Given the description of an element on the screen output the (x, y) to click on. 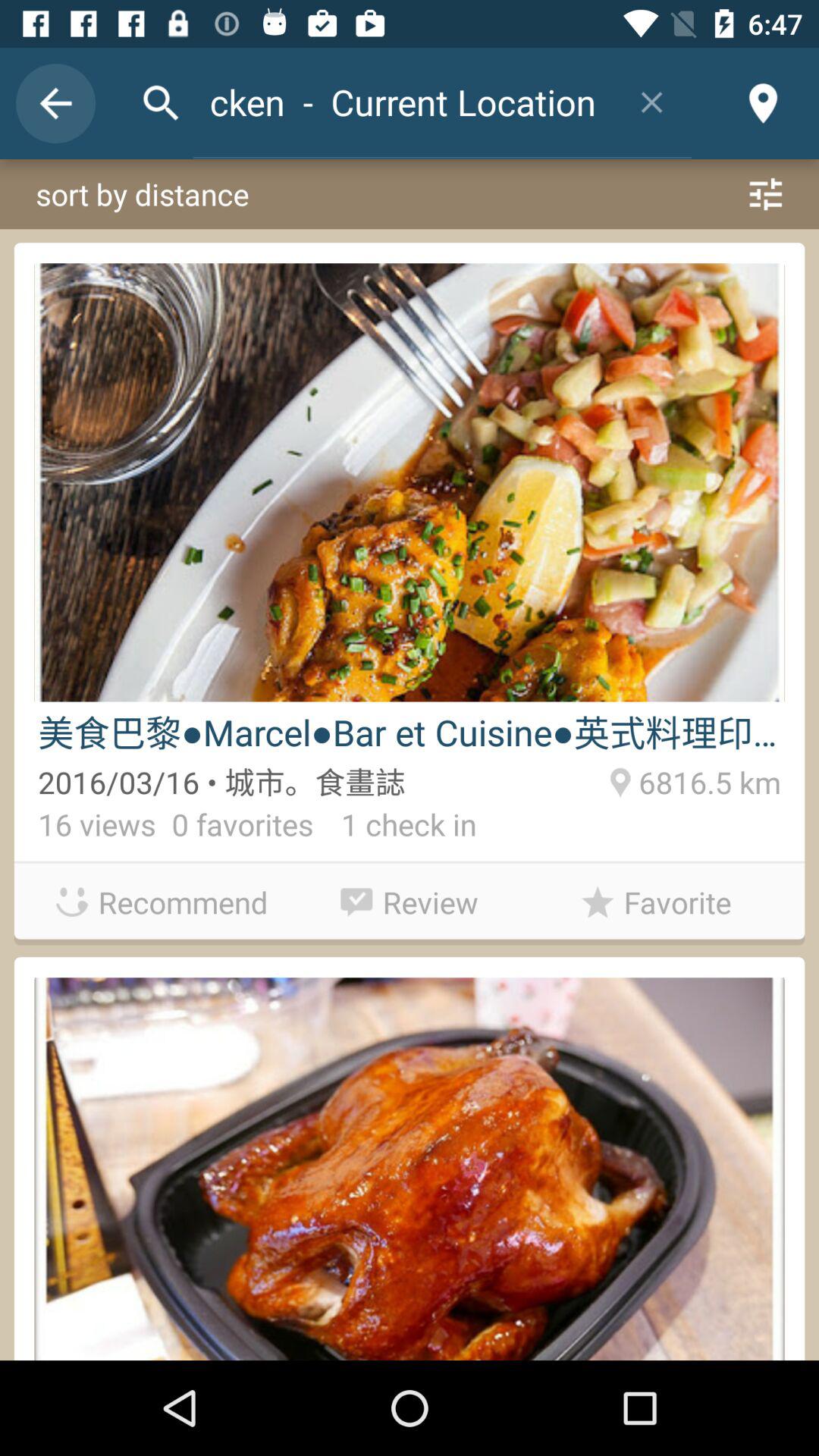
press item to the right of 0 favorites icon (394, 828)
